Given the description of an element on the screen output the (x, y) to click on. 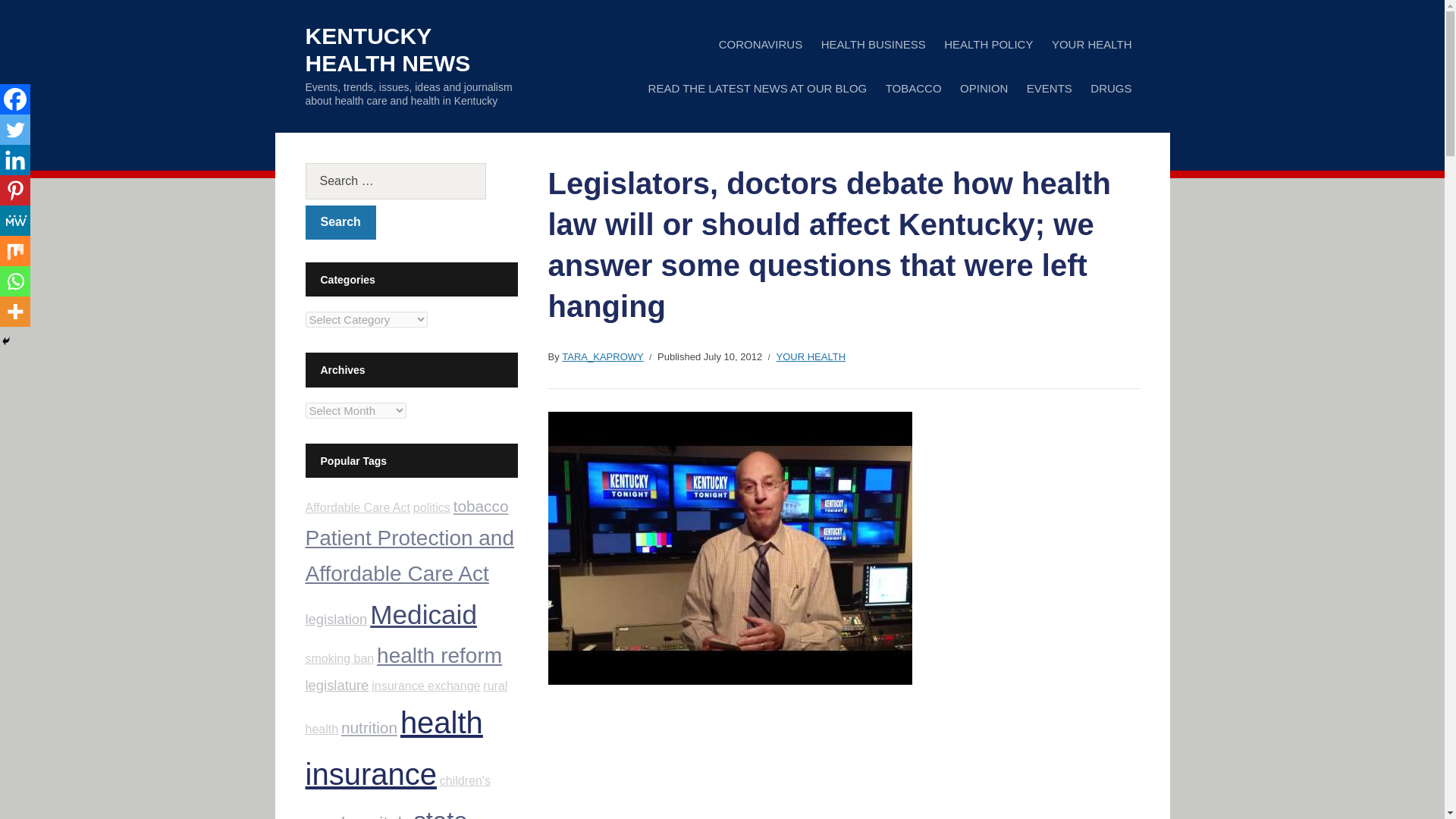
CORONAVIRUS (761, 44)
MeWe (15, 220)
TOBACCO (913, 88)
YOUR HEALTH (810, 357)
Linkedin (15, 159)
Facebook (15, 99)
KENTUCKY HEALTH NEWS (387, 49)
YOUR HEALTH (1091, 44)
READ THE LATEST NEWS AT OUR BLOG (757, 88)
Search (339, 222)
Pinterest (15, 190)
EVENTS (1049, 88)
Twitter (15, 129)
Mix (15, 250)
DRUGS (1110, 88)
